Given the description of an element on the screen output the (x, y) to click on. 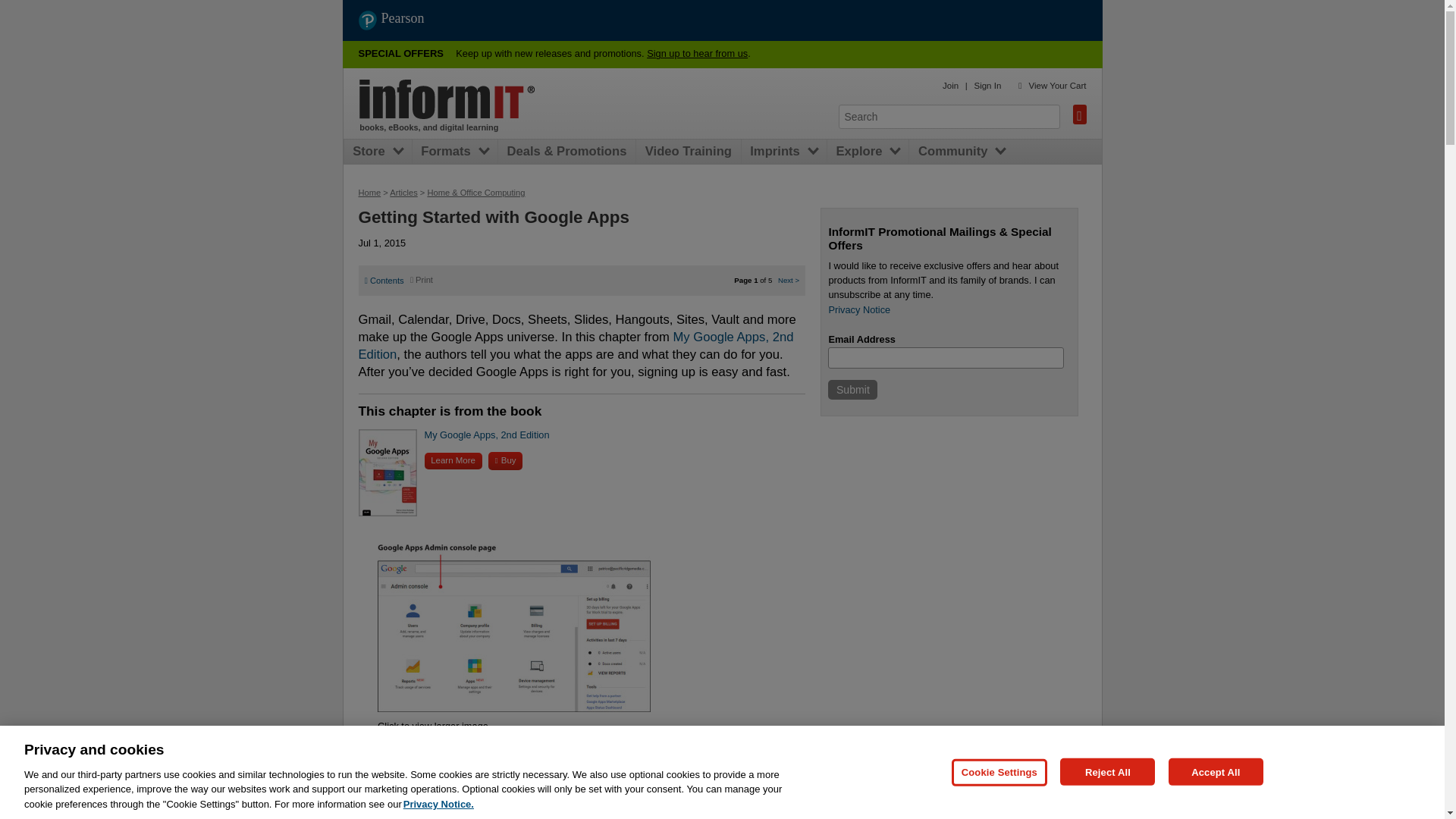
Learn More (453, 460)
My Google Apps, 2nd Edition (577, 345)
My Google Apps, 2nd Edition (487, 434)
Click to view larger image (432, 726)
Home (369, 192)
Home (446, 98)
Print (421, 279)
Articles (403, 192)
Submit (852, 389)
Sign up to hear from us (697, 52)
